Given the description of an element on the screen output the (x, y) to click on. 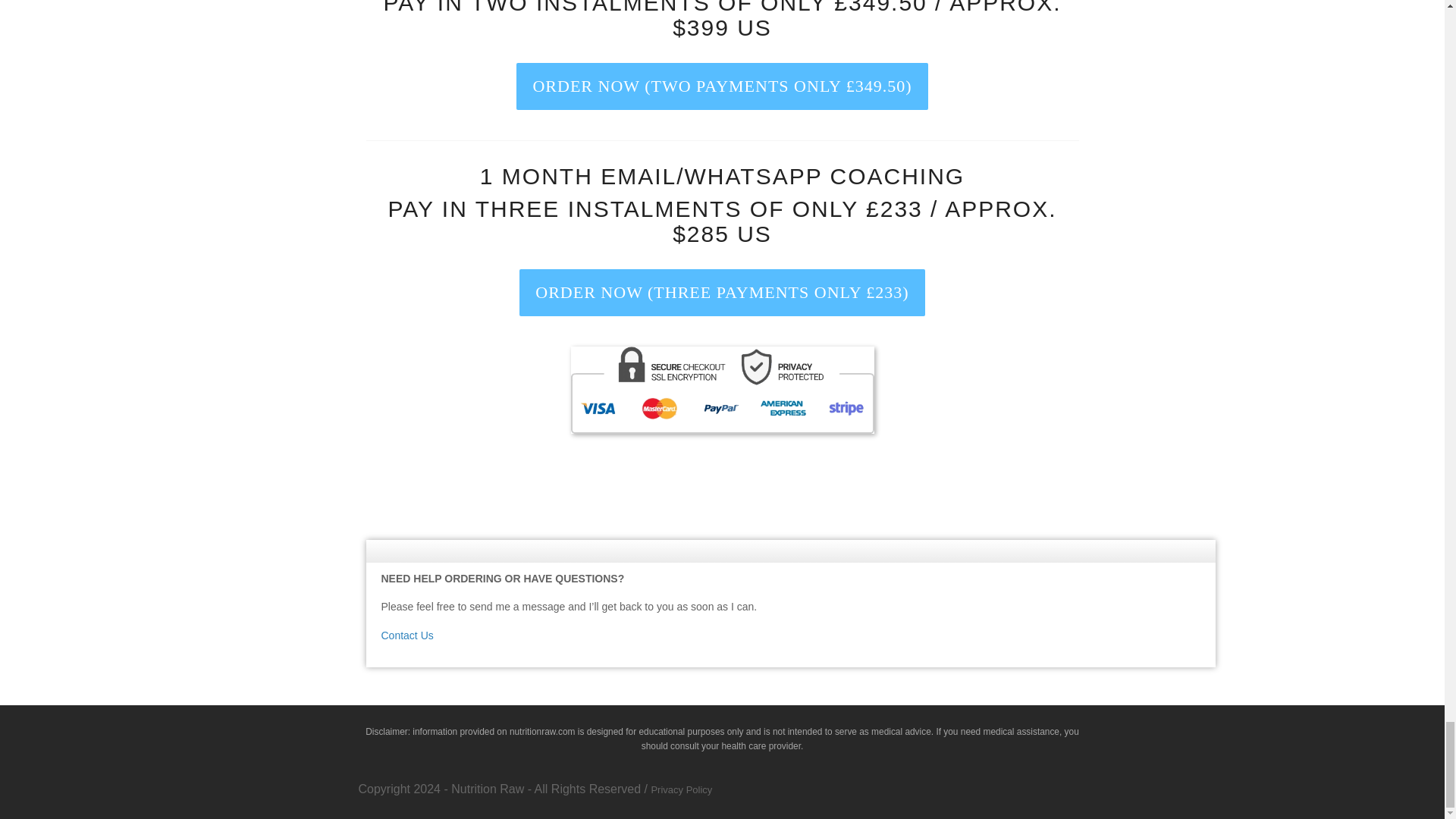
Contact Us (406, 635)
Privacy Policy (680, 789)
